Given the description of an element on the screen output the (x, y) to click on. 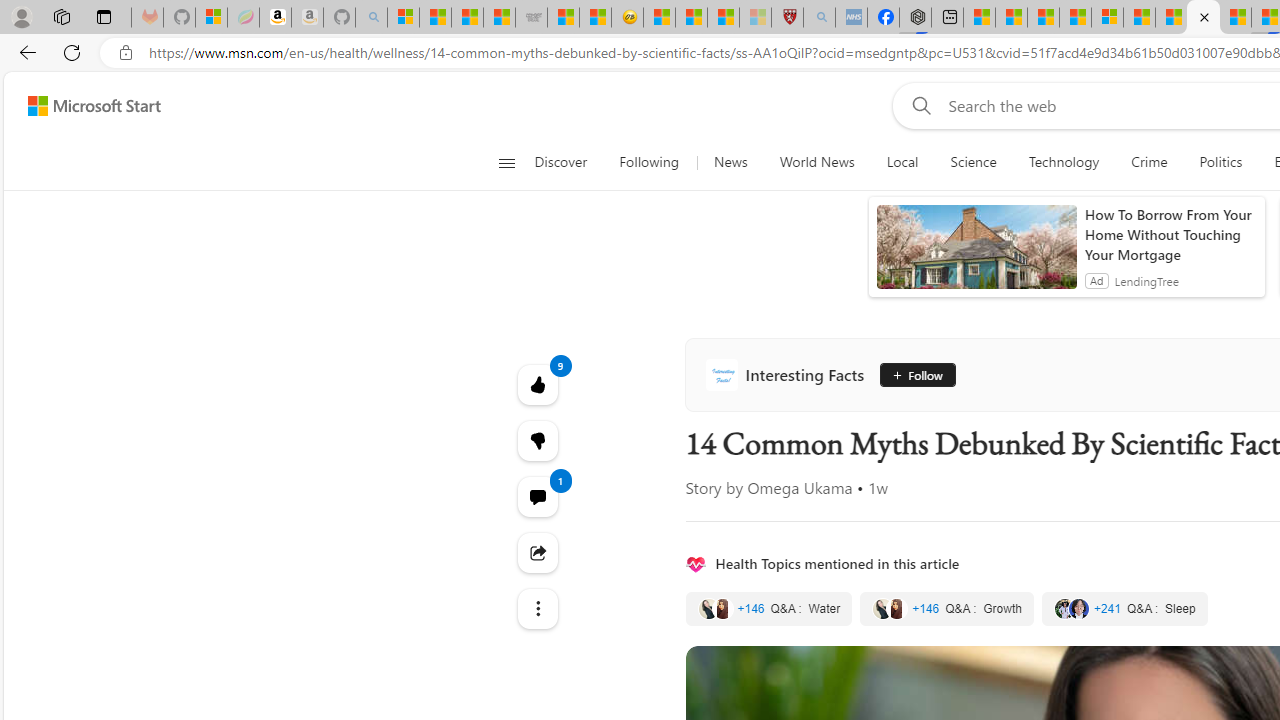
Recipes - MSN (658, 17)
Web search (917, 105)
World News (817, 162)
LendingTree (1145, 280)
Skip to footer (82, 105)
Politics (1220, 162)
